Given the description of an element on the screen output the (x, y) to click on. 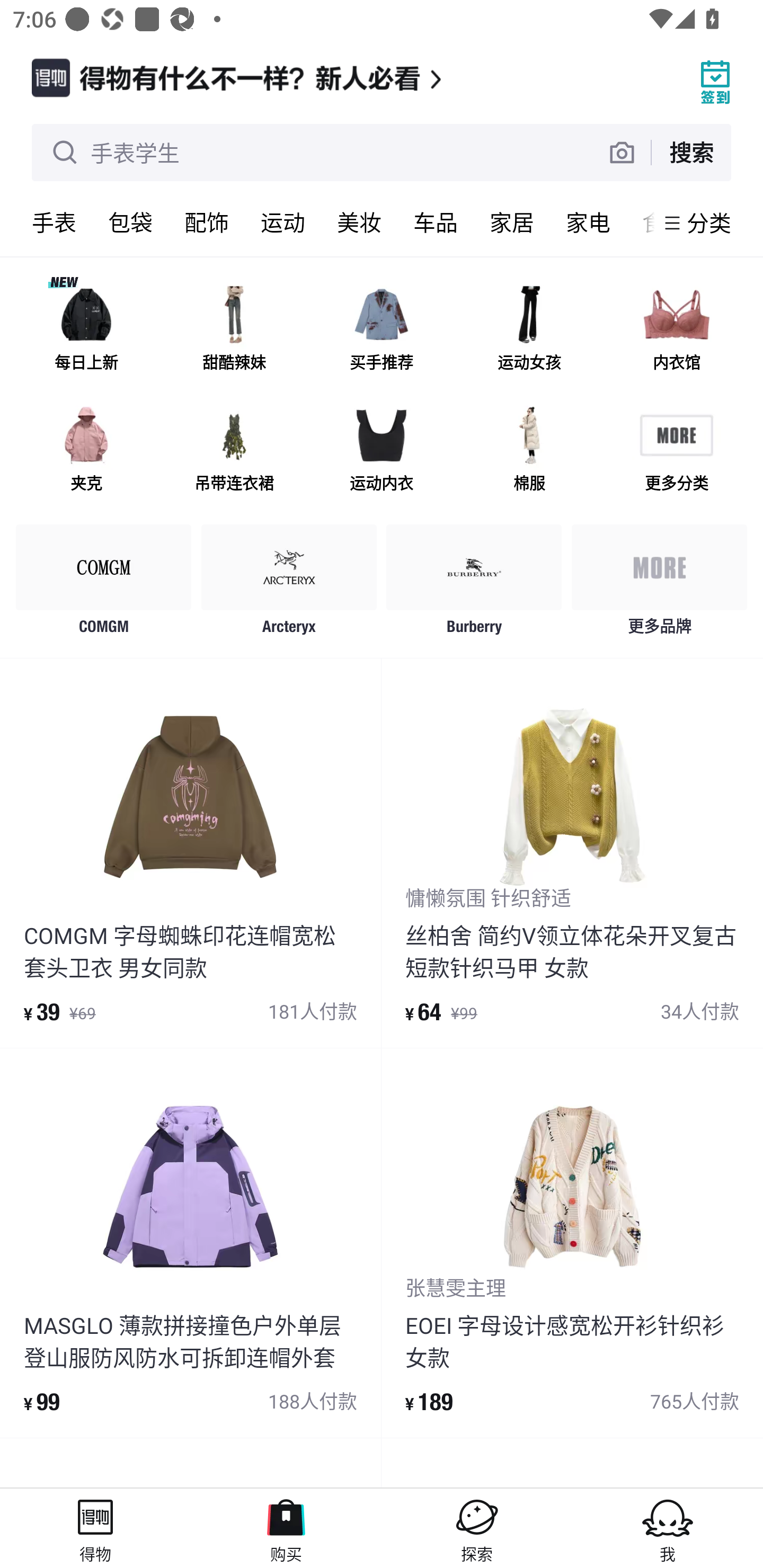
搜索 (690, 152)
手表 (54, 222)
包袋 (130, 222)
配饰 (206, 222)
运动 (282, 222)
美妆 (359, 222)
车品 (435, 222)
家居 (511, 222)
家电 (588, 222)
分类 (708, 222)
每日上新 (86, 329)
甜酷辣妹 (233, 329)
买手推荐 (381, 329)
运动女孩 (528, 329)
内衣馆 (676, 329)
夹克 (86, 450)
吊带连衣裙 (233, 450)
运动内衣 (381, 450)
棉服 (528, 450)
更多分类 (676, 450)
COMGM (103, 583)
Arcteryx (288, 583)
Burberry (473, 583)
更多品牌 (658, 583)
得物 (95, 1528)
购买 (285, 1528)
探索 (476, 1528)
我 (667, 1528)
